Given the description of an element on the screen output the (x, y) to click on. 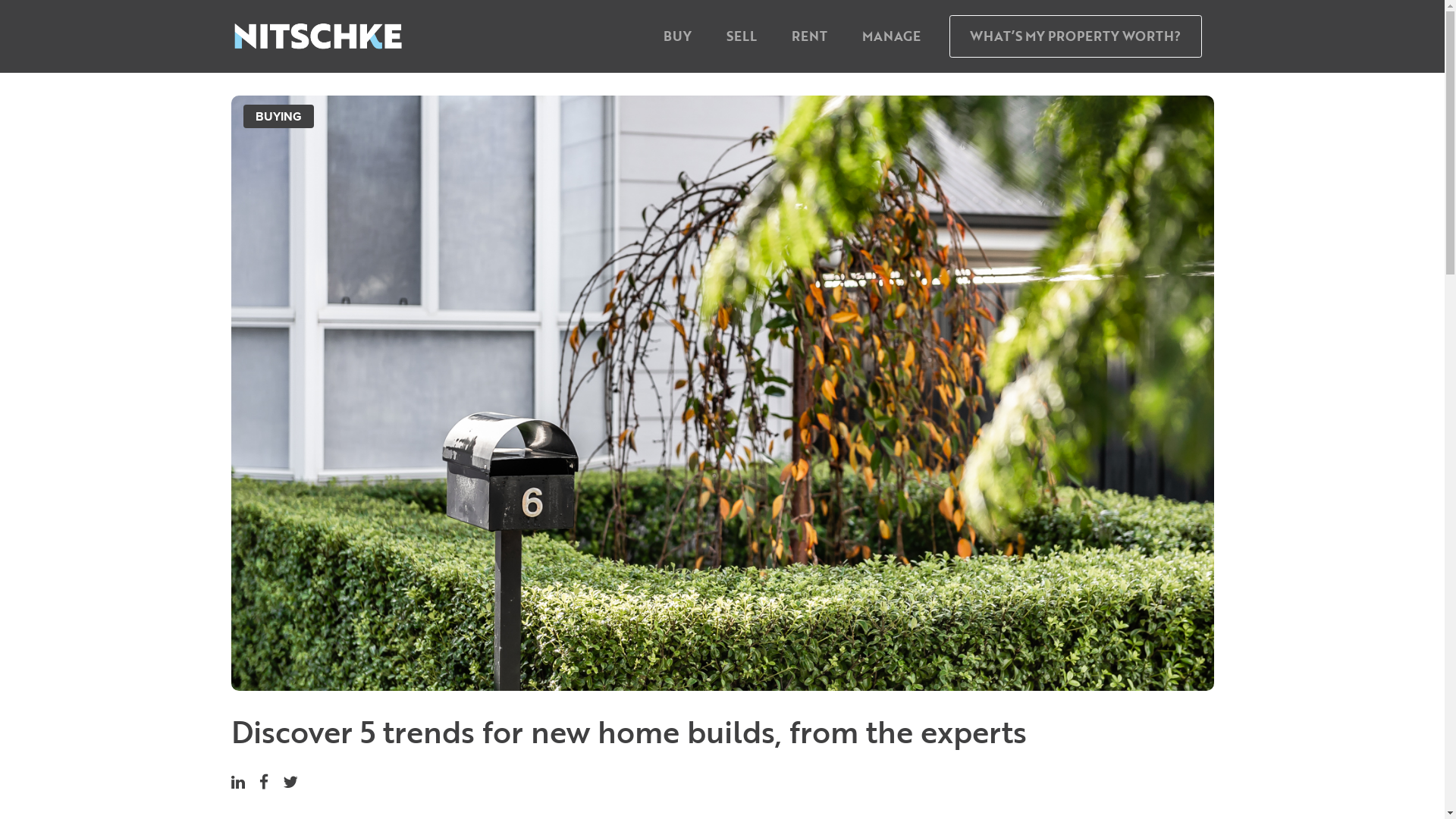
MANAGE Element type: text (891, 36)
RENT Element type: text (809, 36)
SELL Element type: text (741, 36)
BUY Element type: text (677, 36)
